Given the description of an element on the screen output the (x, y) to click on. 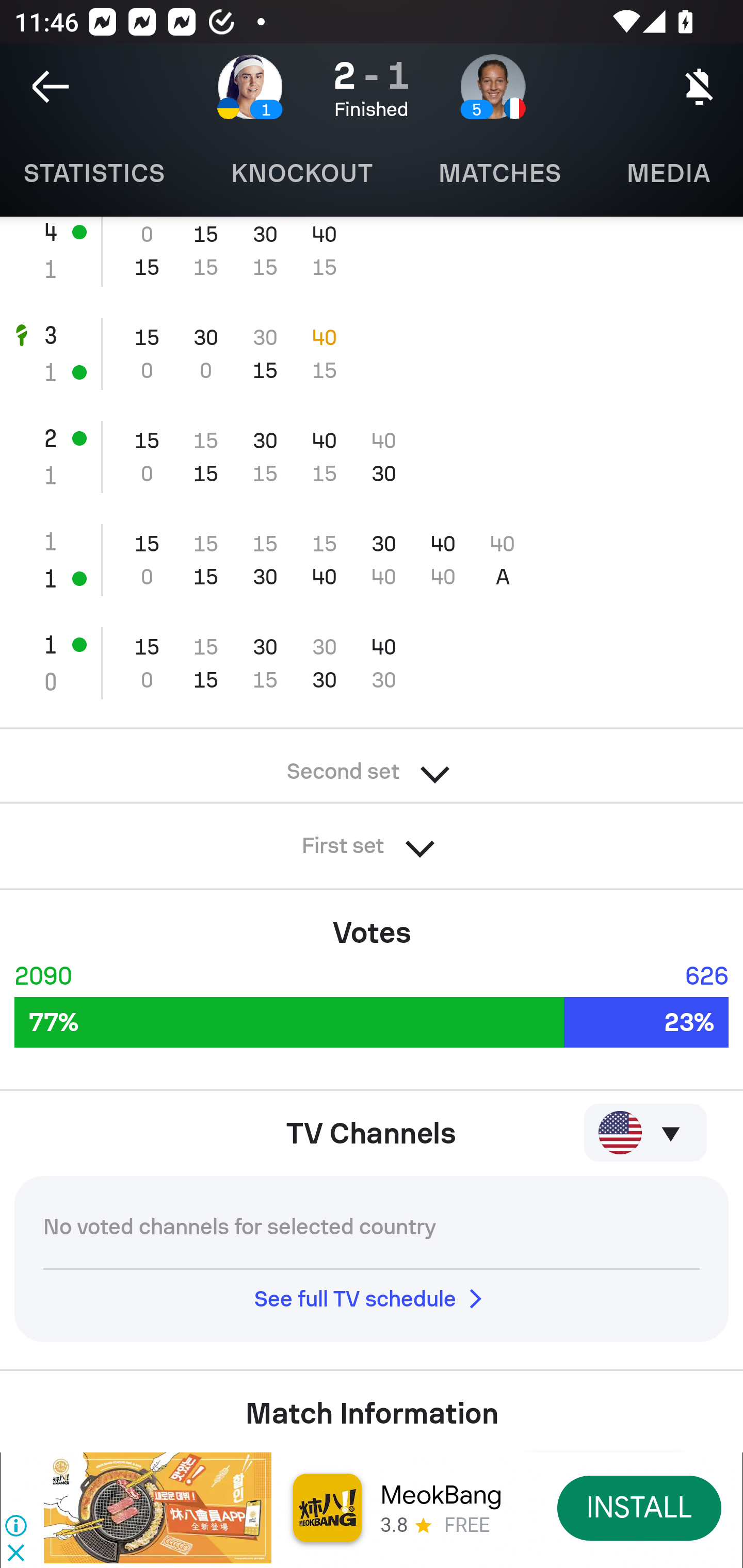
Navigate up (50, 86)
Statistics STATISTICS (98, 173)
Knockout KNOCKOUT (300, 173)
Matches MATCHES (498, 173)
Media MEDIA (668, 173)
4 0 15 30 40 1 15 15 15 15 (371, 259)
3 15 30 30 40 1 0 0 15 15 (371, 354)
2 15 15 30 40 40 1 0 15 15 15 30 (371, 457)
1 15 15 15 15 30 40 40 1 0 15 30 40 40 40 A (371, 559)
1 15 15 30 30 40 0 0 15 15 30 30 (371, 663)
Second set (371, 765)
First set (371, 839)
See full TV schedule (371, 1299)
INSTALL (639, 1507)
MeokBang (440, 1494)
